Given the description of an element on the screen output the (x, y) to click on. 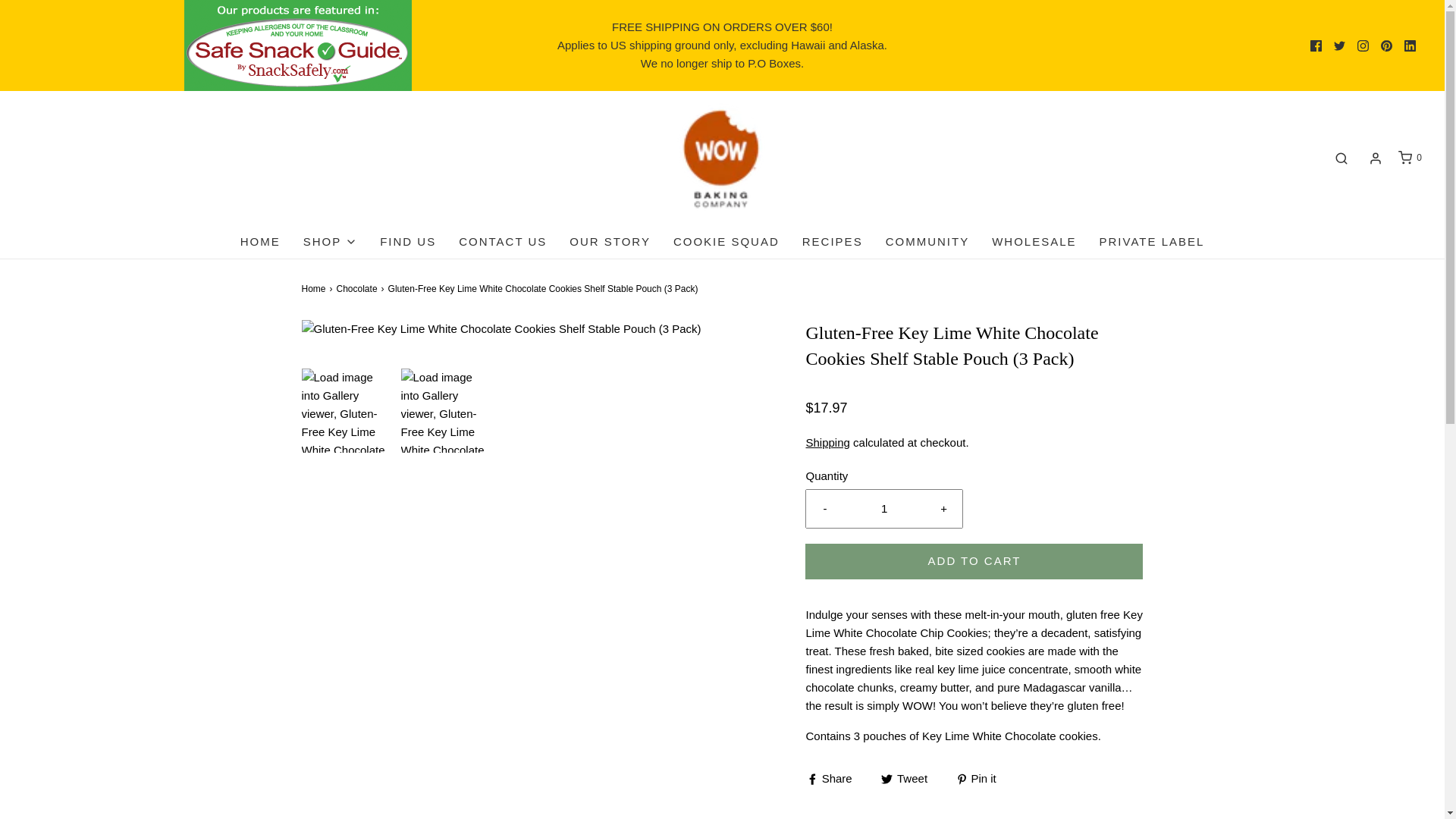
Search (1341, 157)
Pinterest icon (1385, 44)
Twitter icon (1339, 44)
Instagram icon (1362, 44)
Instagram icon (1362, 44)
1 (884, 508)
0 (1409, 157)
Pinterest icon (1385, 44)
Facebook icon (1315, 44)
Cart (1409, 157)
LinkedIn icon (1409, 44)
Twitter icon (1339, 44)
LinkedIn icon (1410, 44)
Facebook icon (1316, 44)
SHOP (330, 241)
